Given the description of an element on the screen output the (x, y) to click on. 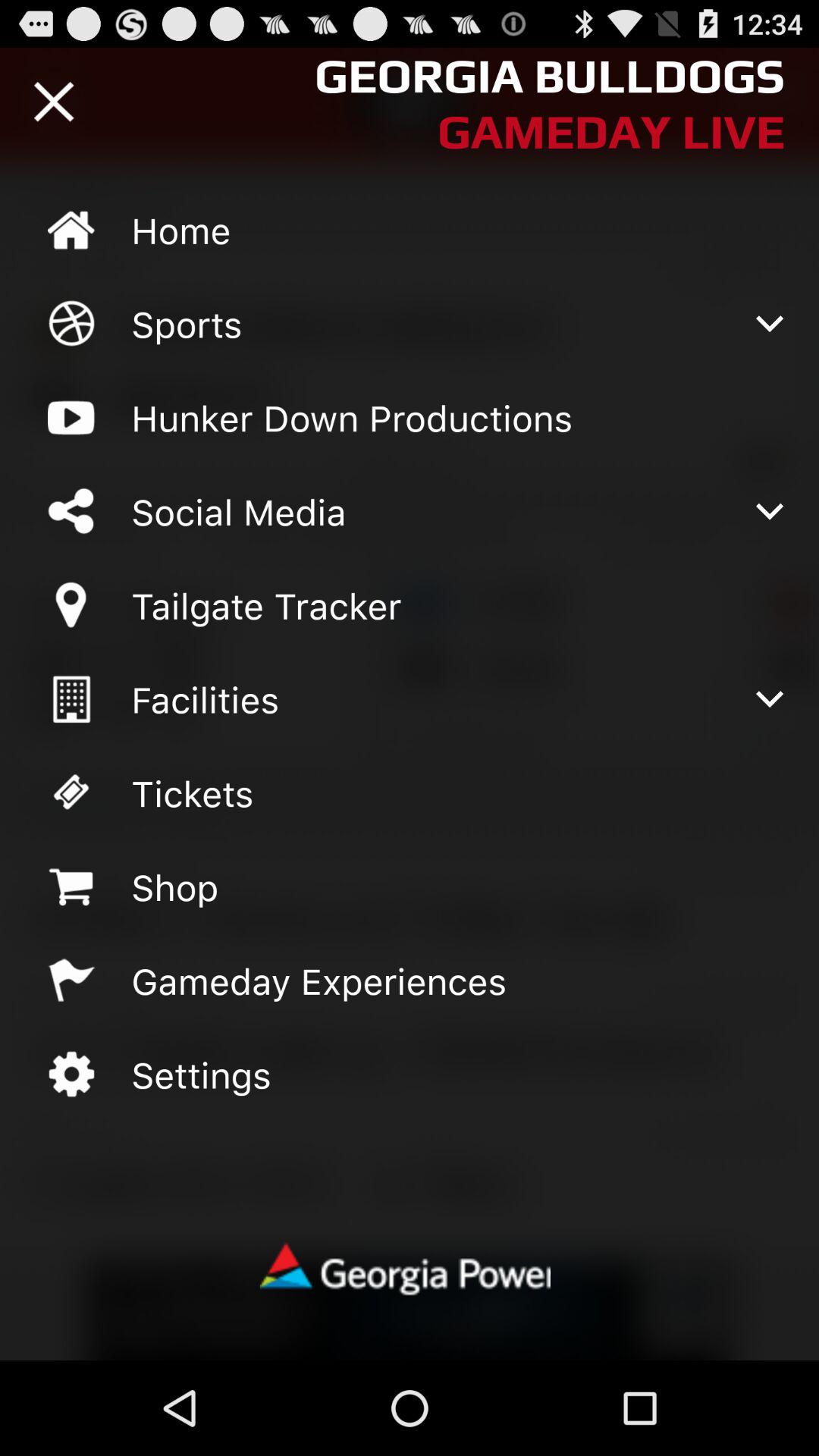
the button is used to close the page (54, 101)
